Given the description of an element on the screen output the (x, y) to click on. 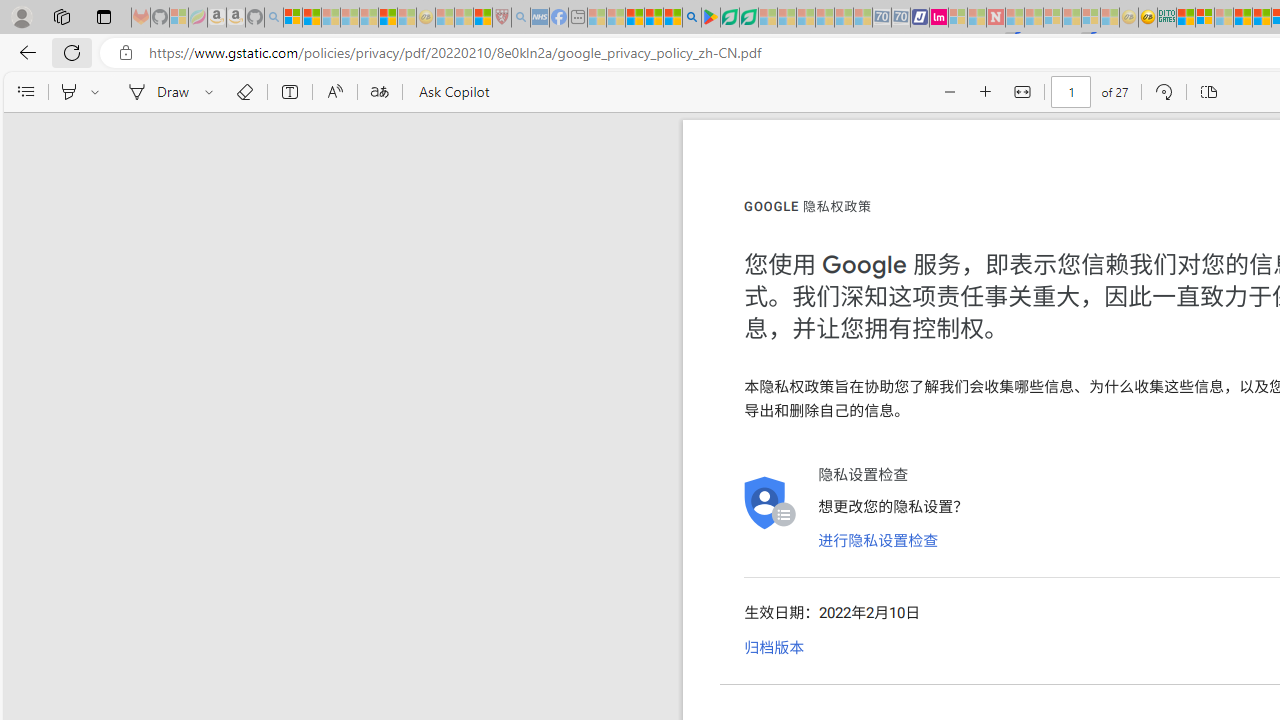
Trusted Community Engagement and Contributions | Guidelines (1014, 17)
DITOGAMES AG Imprint (1167, 17)
NCL Adult Asthma Inhaler Choice Guideline - Sleeping (540, 17)
Page number (1070, 92)
Add text (289, 92)
Expert Portfolios (1242, 17)
